Given the description of an element on the screen output the (x, y) to click on. 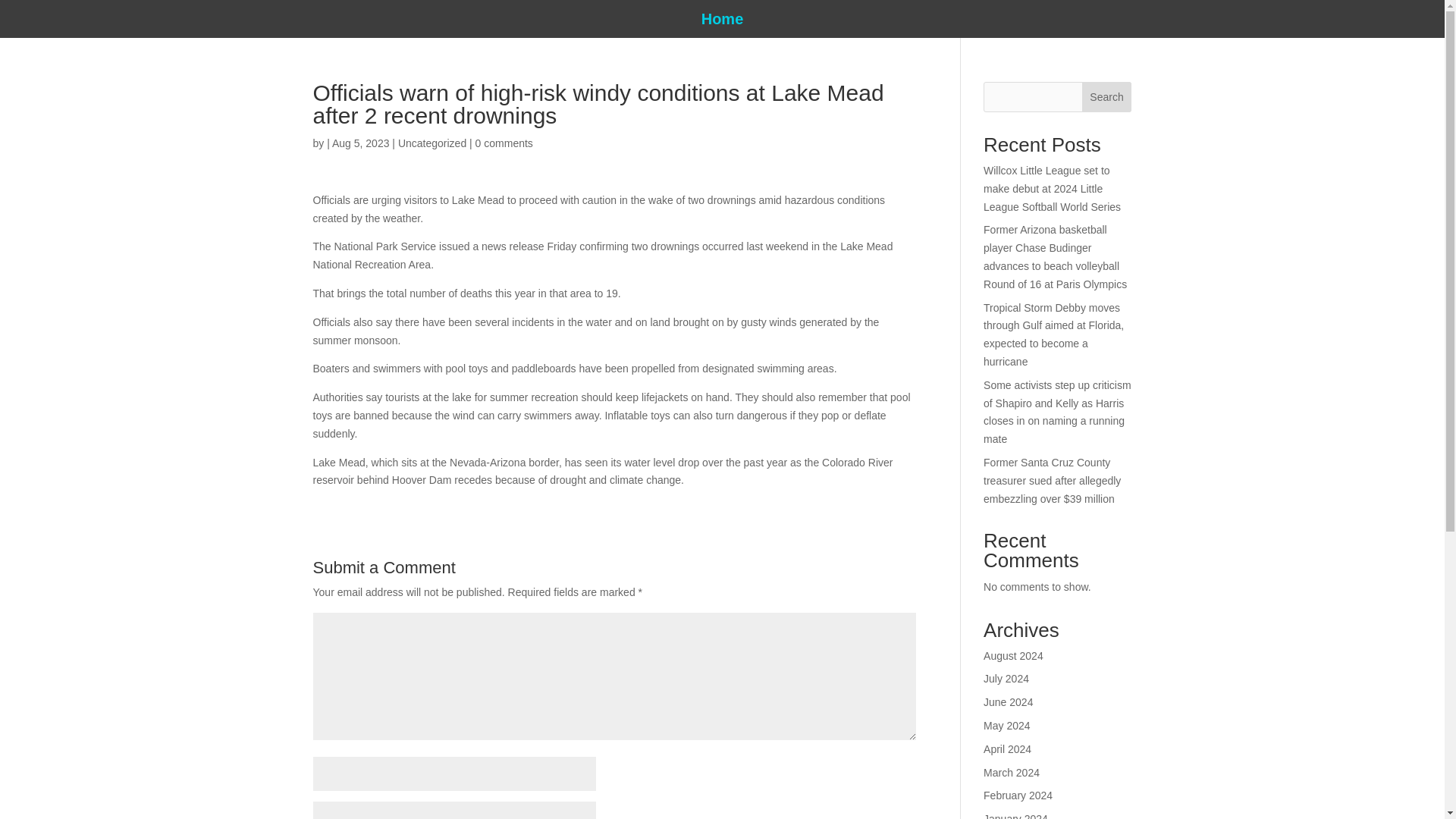
Home (722, 21)
Search (1106, 96)
August 2024 (1013, 655)
Uncategorized (431, 143)
January 2024 (1016, 816)
July 2024 (1006, 678)
June 2024 (1008, 702)
May 2024 (1006, 725)
April 2024 (1007, 748)
March 2024 (1011, 772)
0 comments (504, 143)
February 2024 (1018, 795)
